Given the description of an element on the screen output the (x, y) to click on. 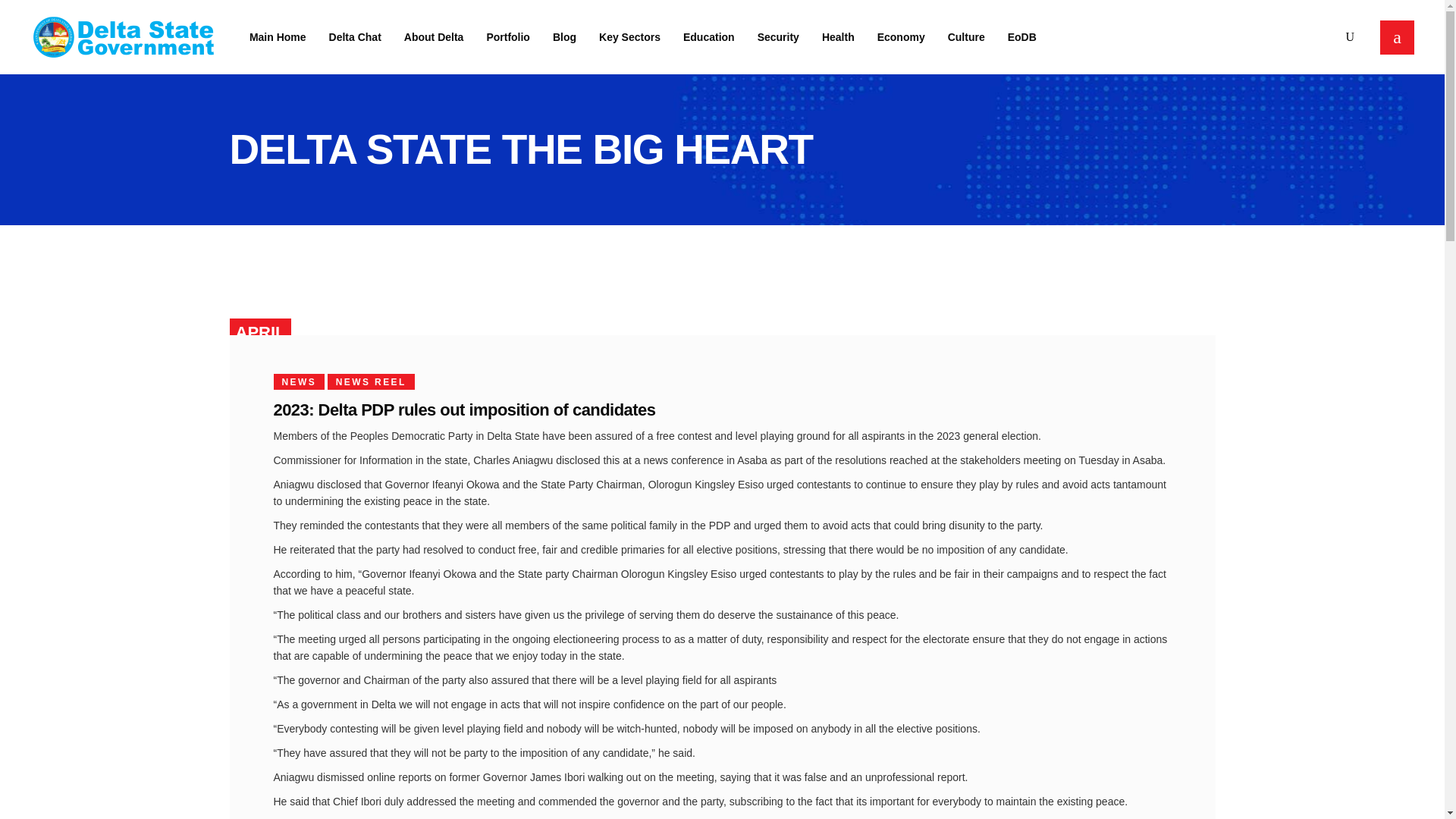
Delta Chat (355, 36)
Portfolio (507, 36)
Main Home (277, 36)
About Delta (434, 36)
Blog (564, 36)
Key Sectors (629, 36)
